Given the description of an element on the screen output the (x, y) to click on. 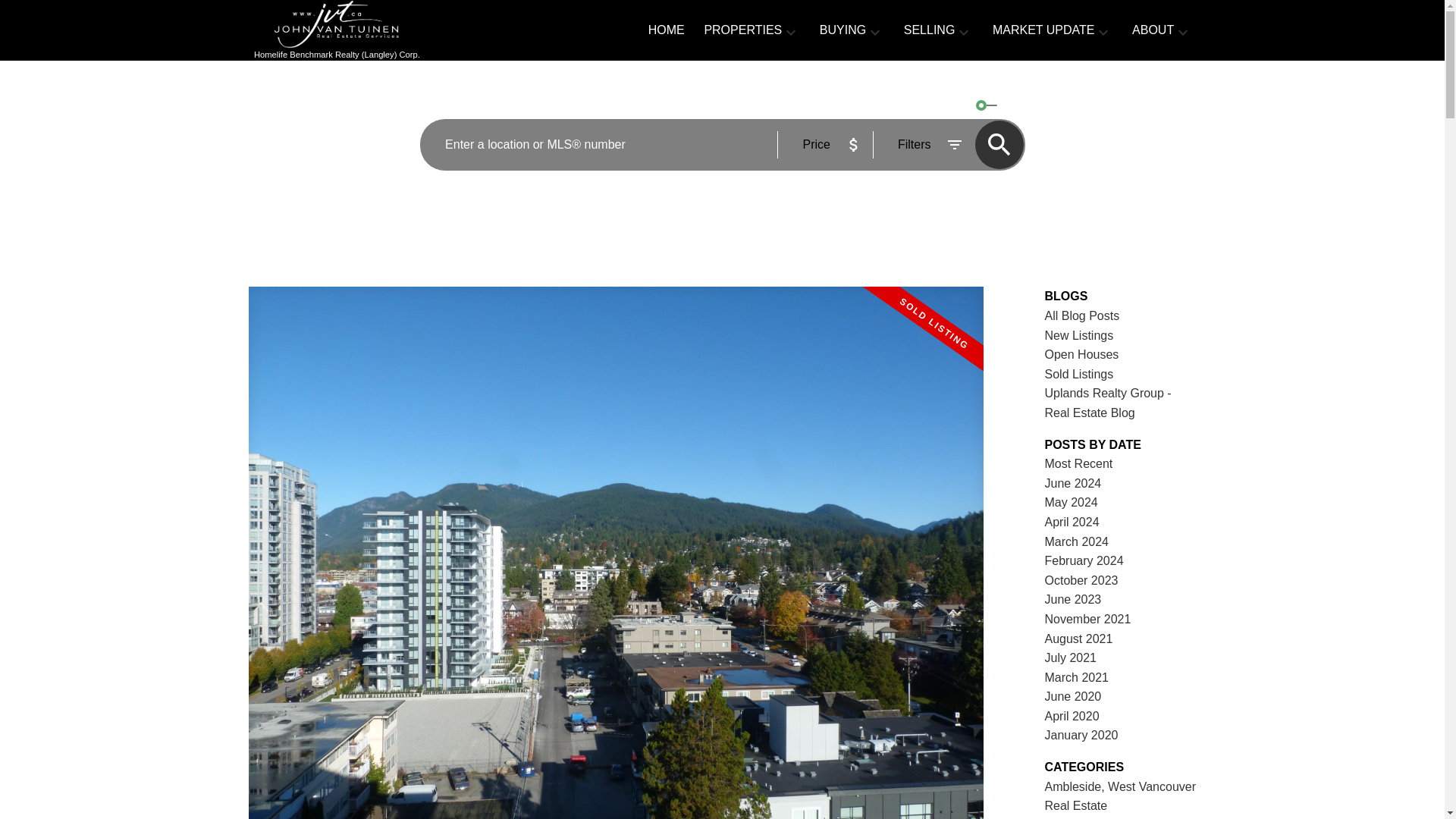
HOME (665, 31)
